Given the description of an element on the screen output the (x, y) to click on. 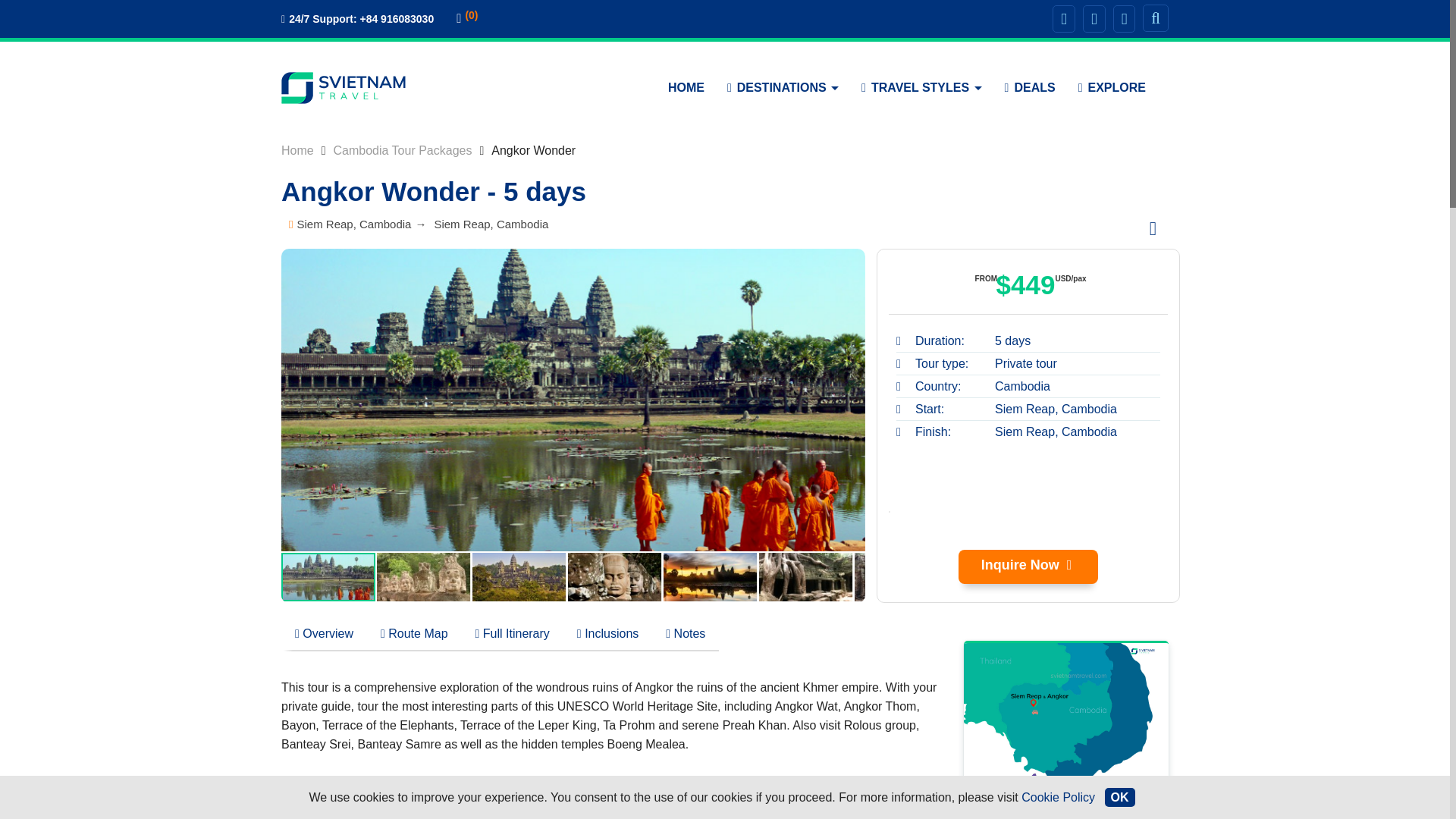
Full Itinerary (512, 633)
Route Map (413, 633)
DEALS (1029, 87)
Overview (323, 633)
DESTINATIONS (782, 87)
HOME (686, 87)
TRAVEL STYLES (921, 87)
Notes (685, 633)
EXPLORE (1111, 87)
Home (297, 150)
